Given the description of an element on the screen output the (x, y) to click on. 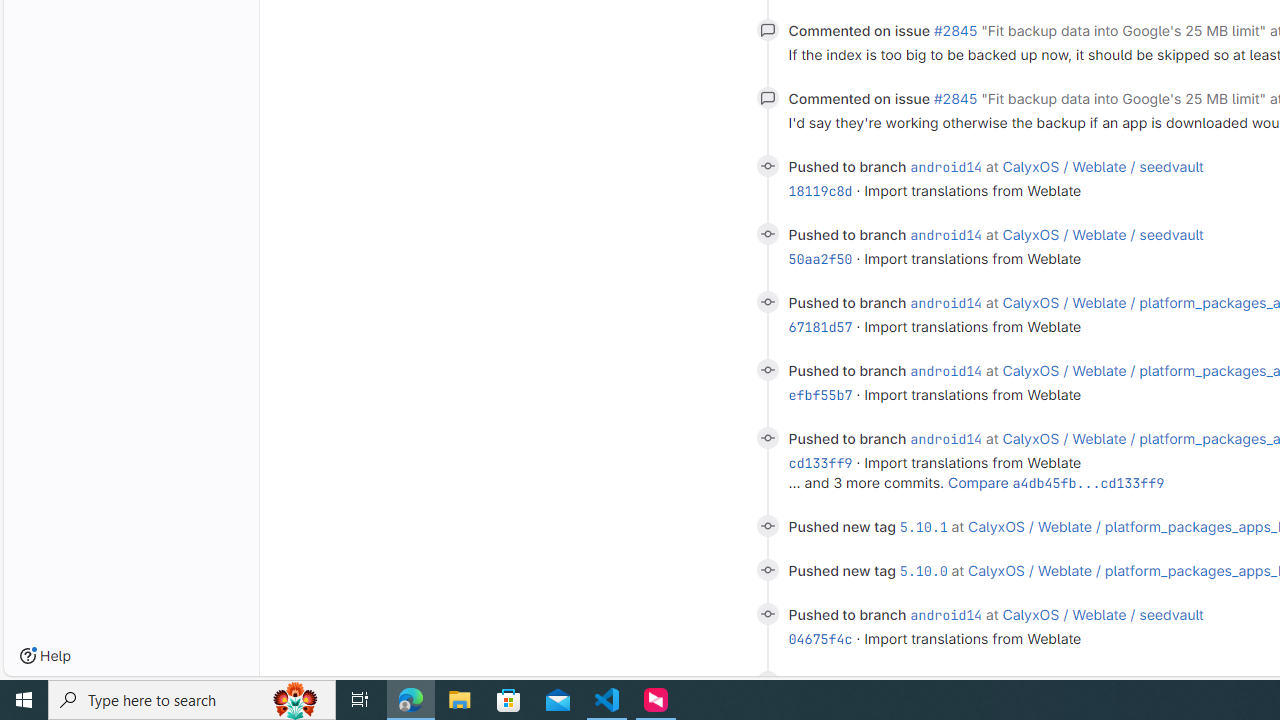
04675f4c (820, 639)
18119c8d (820, 191)
Class: s14 (767, 682)
CalyxOS / Weblate / seedvault (1103, 614)
efbf55b7 (820, 394)
5.10.0 (923, 571)
Help (45, 655)
android14 (946, 682)
5.10.1 (923, 526)
cd133ff9 (820, 463)
50aa2f50 (820, 258)
Compare a4db45fb...cd133ff9 (1056, 482)
67181d57 (820, 327)
#2845 (955, 98)
